Given the description of an element on the screen output the (x, y) to click on. 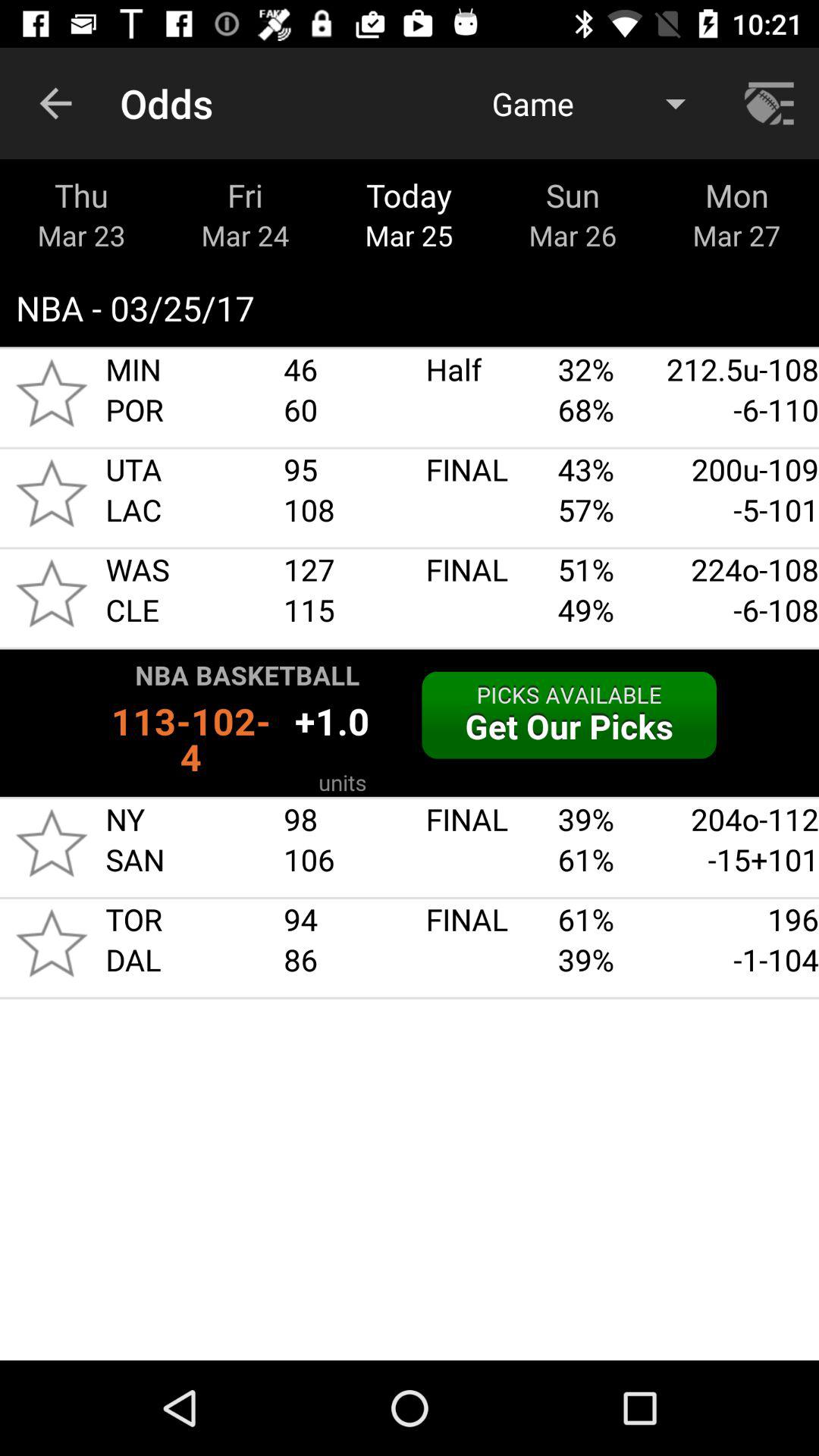
tor dal star icon (51, 942)
